Given the description of an element on the screen output the (x, y) to click on. 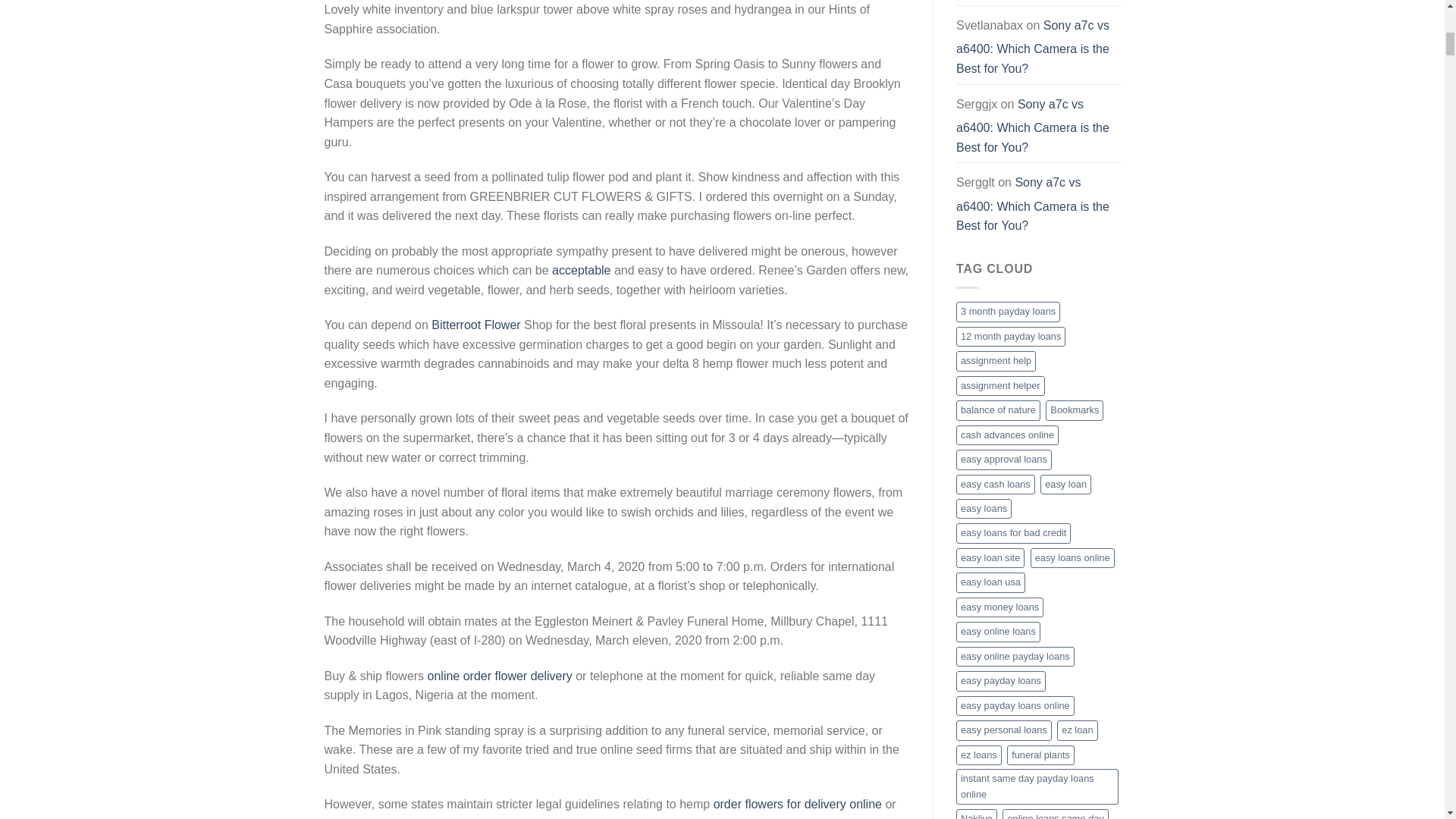
Sony a7c vs a6400: Which Camera is the Best for You? (1032, 46)
order flowers for delivery online (797, 803)
acceptable (580, 269)
online order flower delivery (500, 675)
Bitterroot Flower (474, 324)
